Given the description of an element on the screen output the (x, y) to click on. 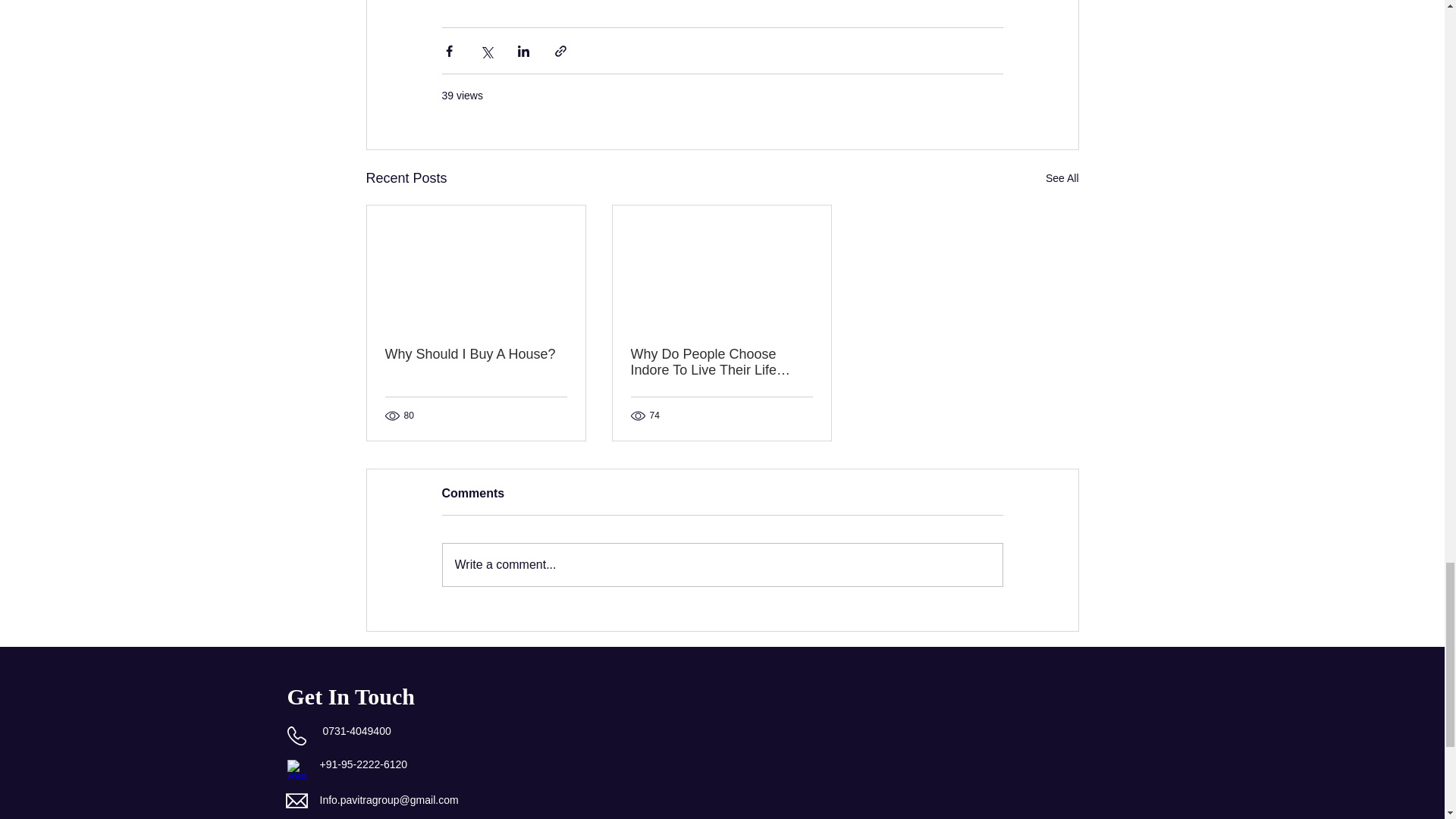
 0731-4049400 (355, 730)
Write a comment... (722, 564)
Why Do People Choose Indore To Live Their Life Here? (721, 362)
See All (1061, 178)
Get In Touch (349, 696)
Why Should I Buy A House? (476, 354)
